Given the description of an element on the screen output the (x, y) to click on. 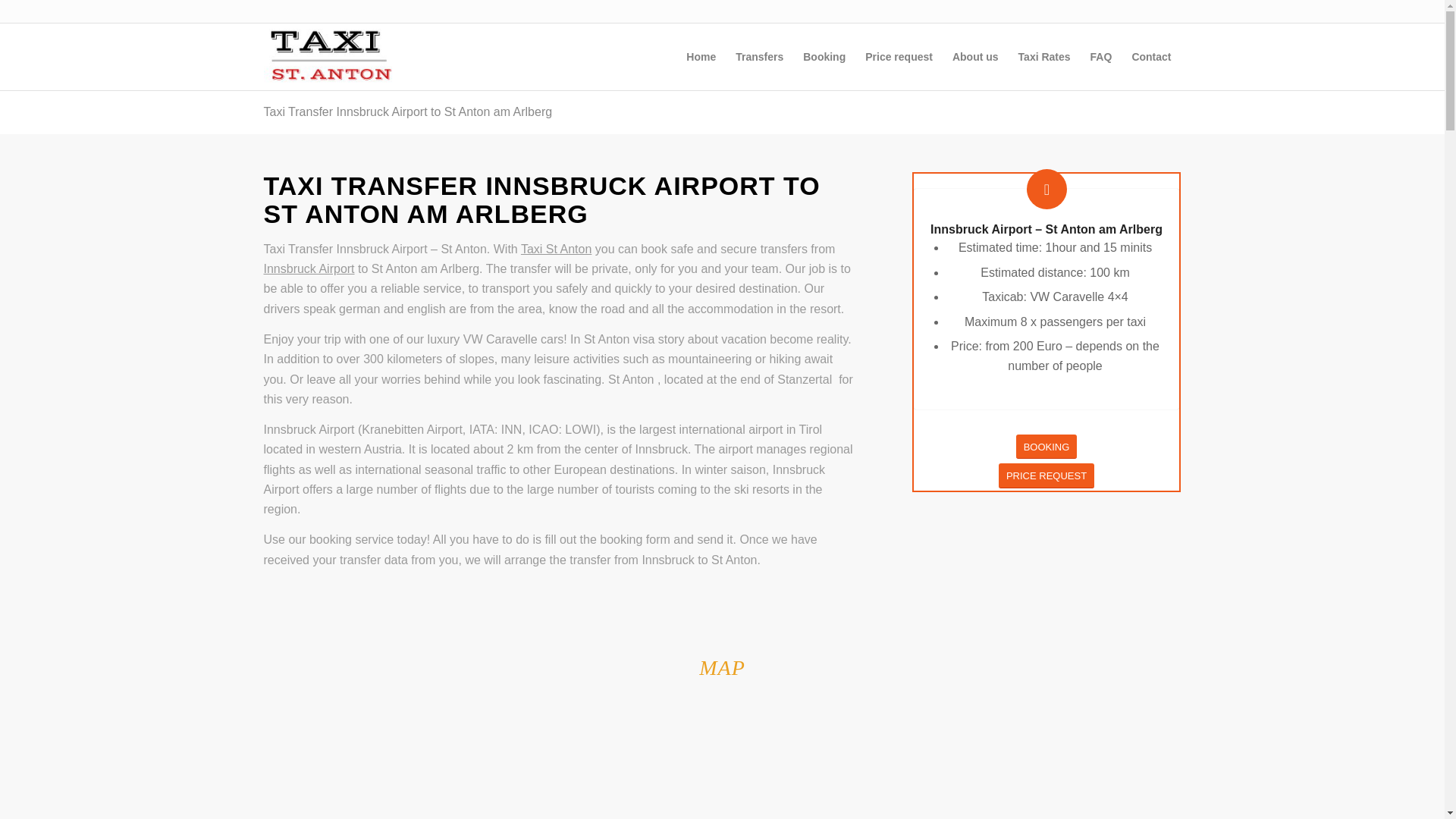
Taxi Rates (1044, 56)
BOOKING (1046, 446)
Taxi St Anton (556, 248)
Price request (899, 56)
Taxi Transfer Innsbruck Airport to St Anton am Arlberg (408, 111)
About us (975, 56)
PRICE REQUEST (1046, 475)
Transfers (759, 56)
Booking (824, 56)
Logo Taxi Stanton (330, 56)
Innsbruck Airport (309, 268)
